Given the description of an element on the screen output the (x, y) to click on. 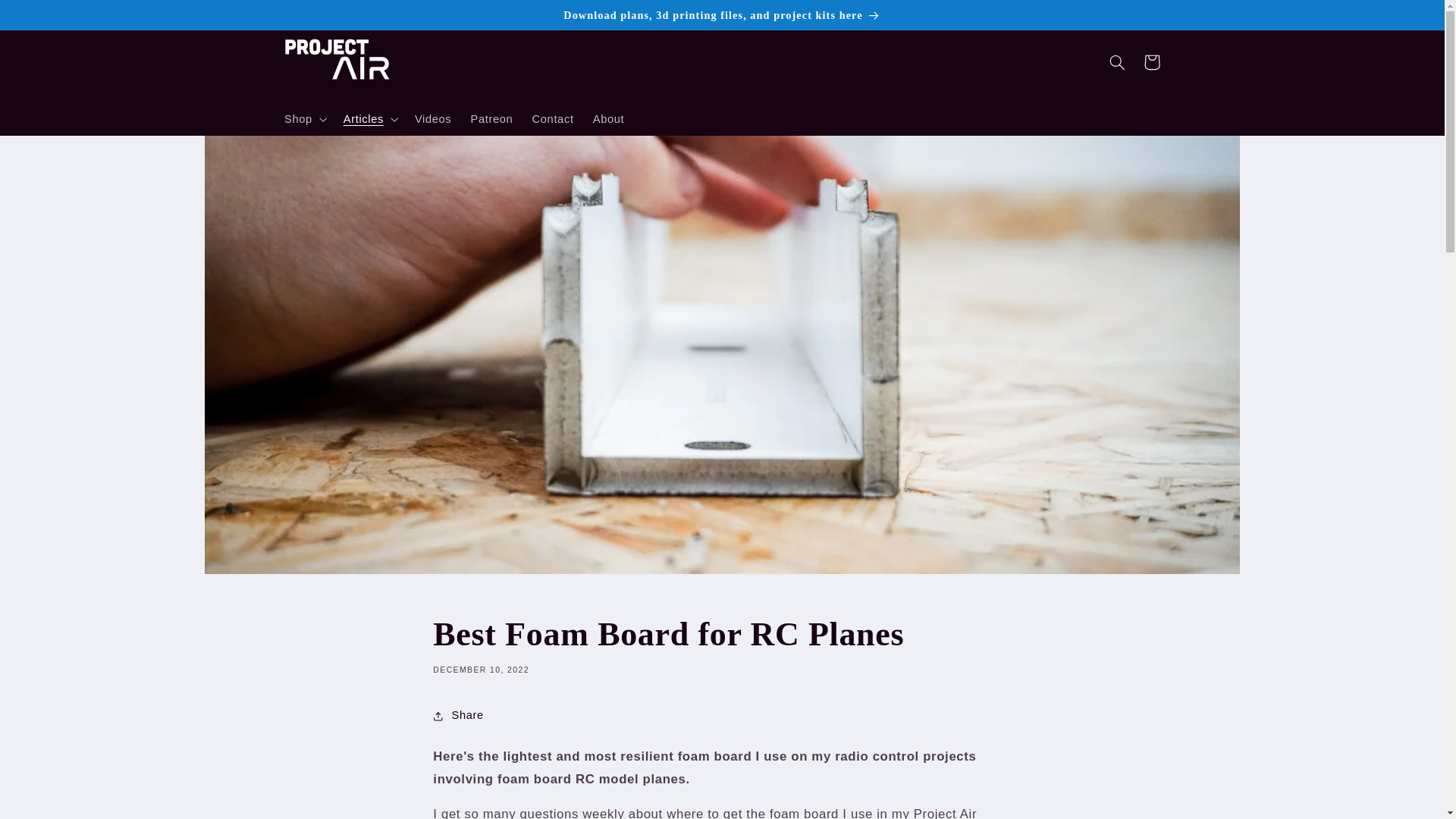
Skip to content (48, 18)
About (608, 118)
Cart (1151, 62)
Contact (552, 118)
Videos (432, 118)
Patreon (491, 118)
